Given the description of an element on the screen output the (x, y) to click on. 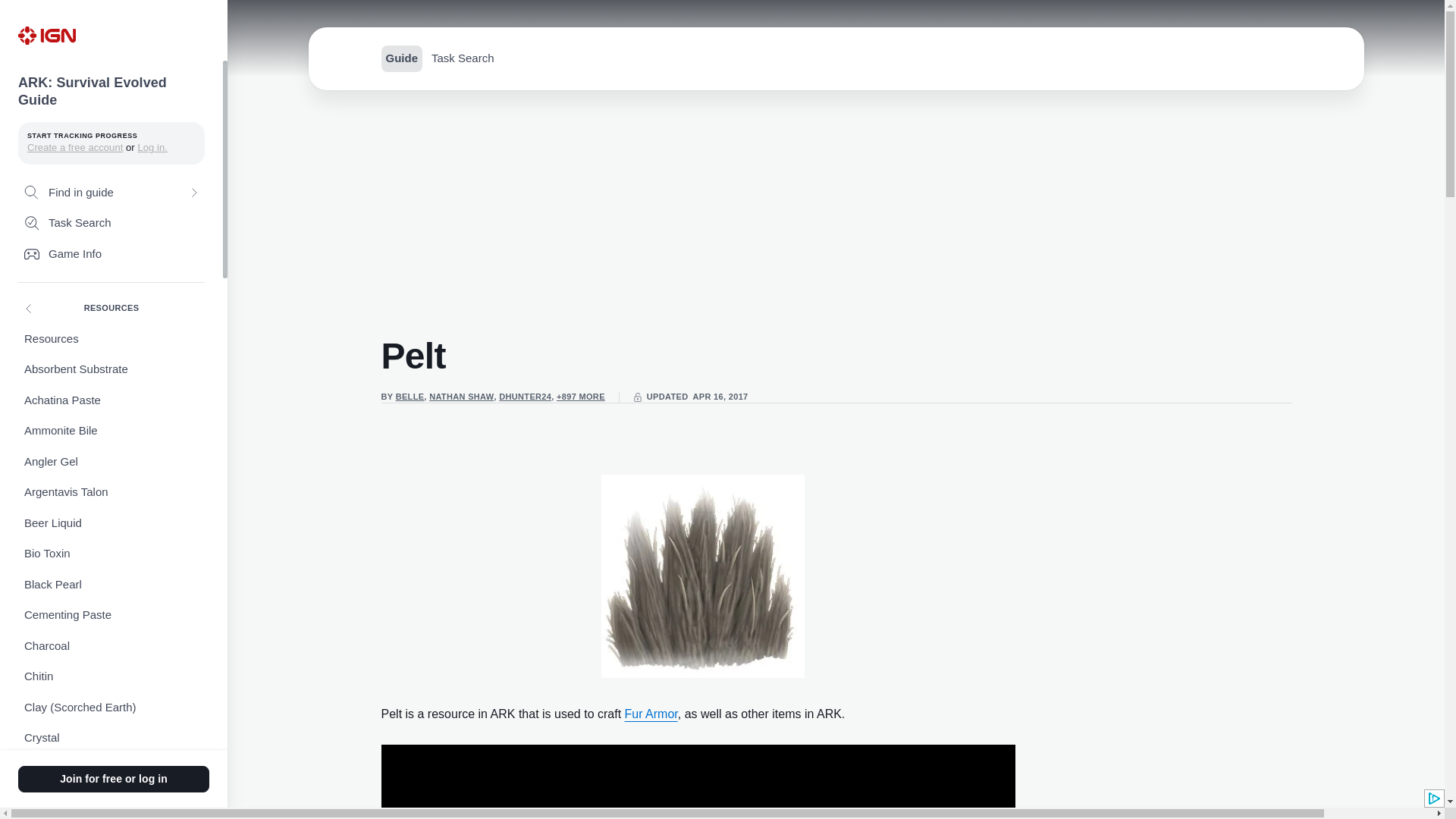
Angler Gel (111, 461)
Crystal (111, 737)
Beer Liquid (111, 523)
Find in guide (111, 193)
Cementing Paste (111, 614)
Ammonite Bile (111, 430)
Argentavis Talon (111, 491)
Beer Liquid (111, 523)
Charcoal (111, 645)
IGN Logo (46, 35)
